Given the description of an element on the screen output the (x, y) to click on. 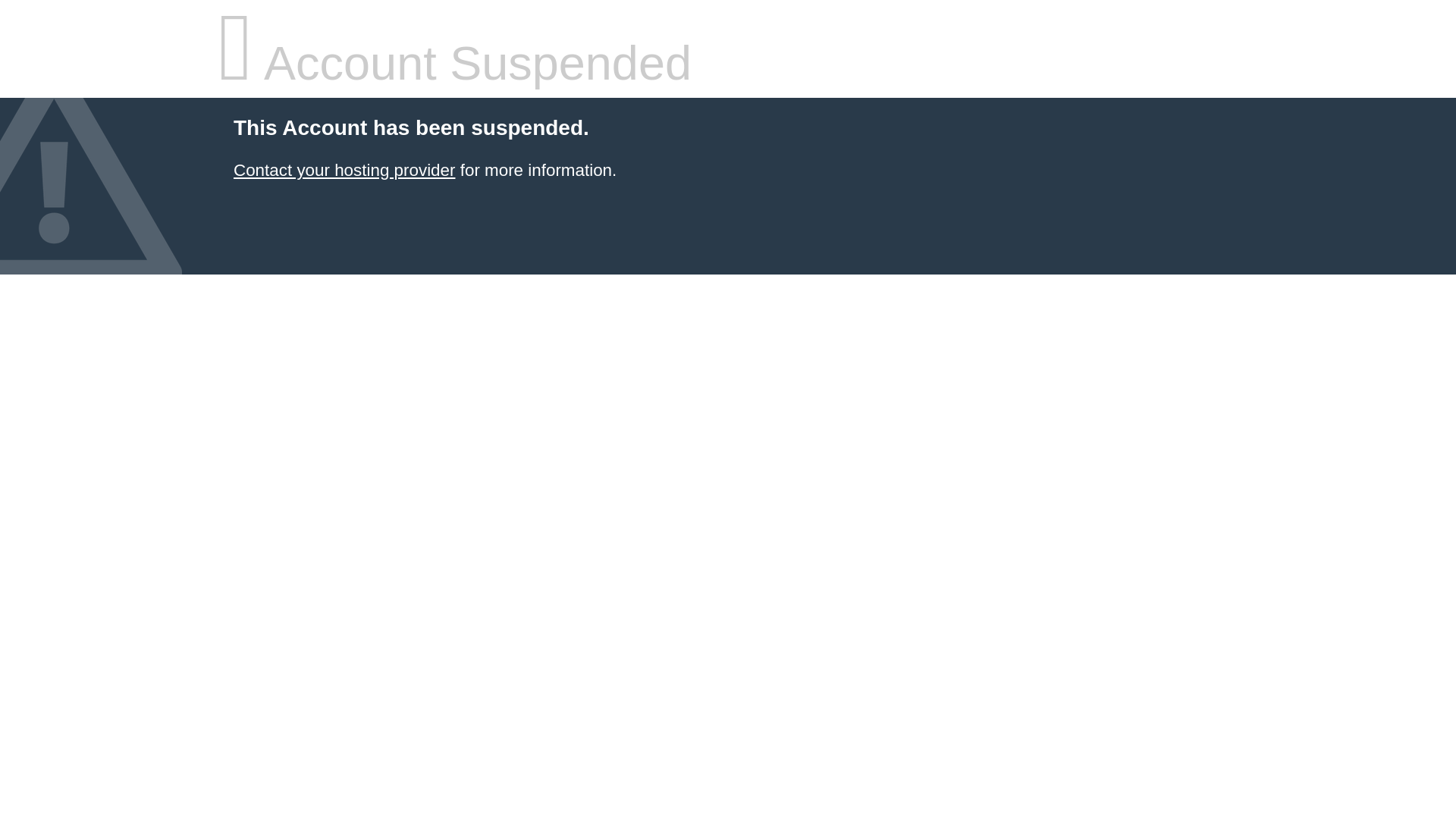
Contact your hosting provider (343, 169)
